Given the description of an element on the screen output the (x, y) to click on. 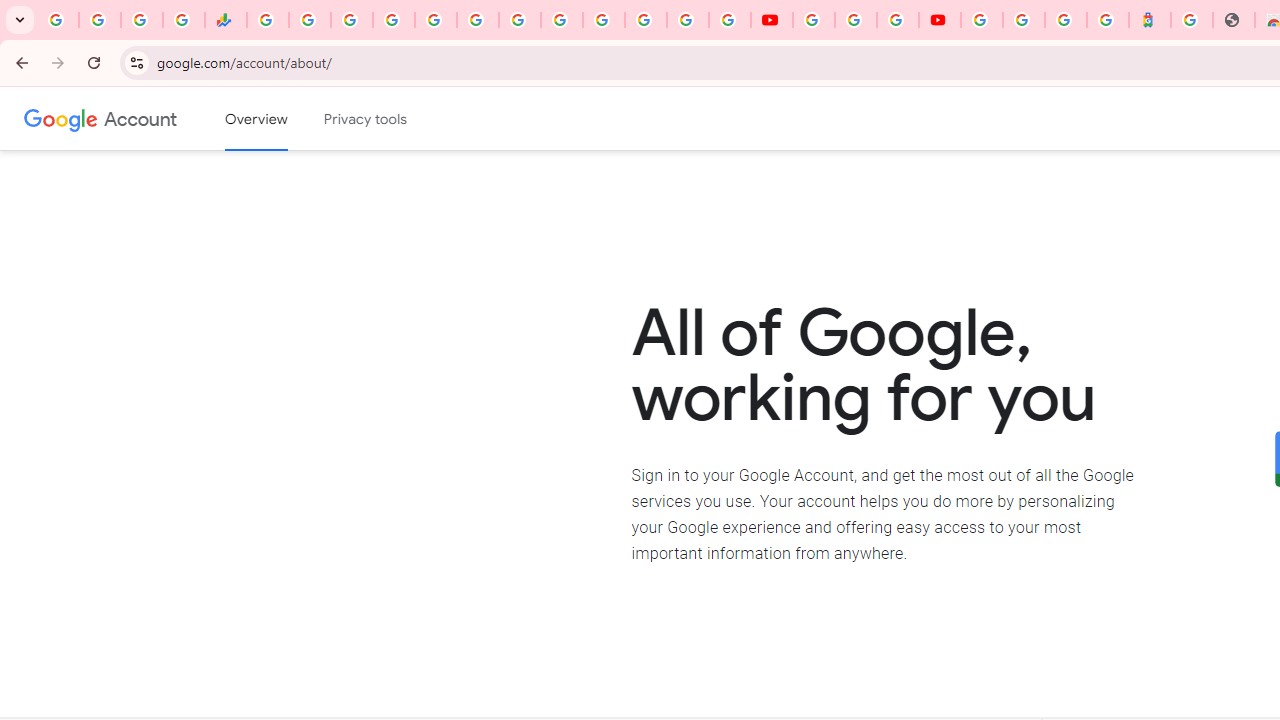
Google Account (140, 118)
Privacy tools (365, 119)
Google Account overview (256, 119)
Sign in - Google Accounts (603, 20)
Google logo (61, 118)
